Given the description of an element on the screen output the (x, y) to click on. 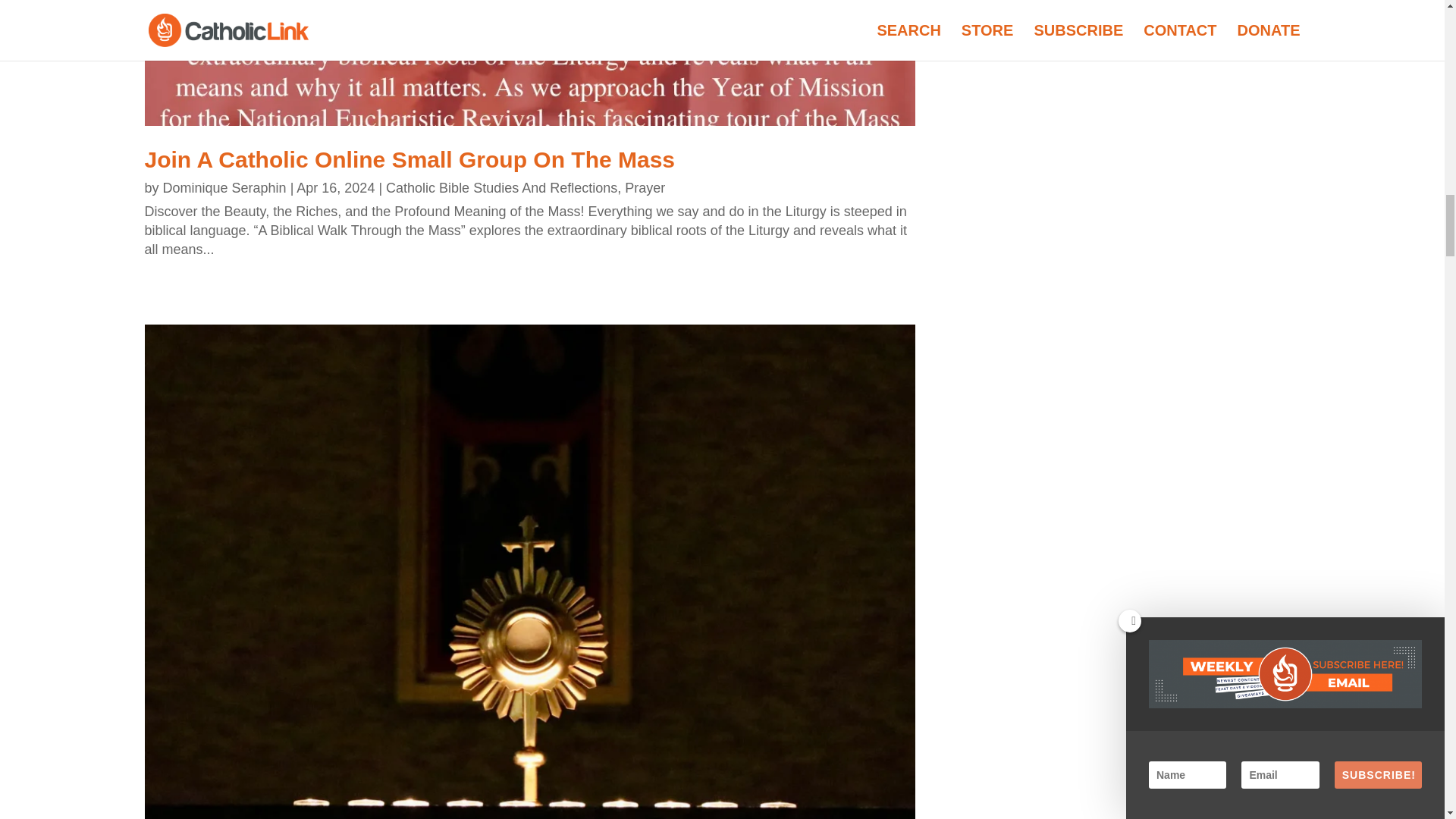
Join A Catholic Online Small Group On The Mass (409, 159)
Prayer (644, 187)
Posts by Dominique Seraphin (224, 187)
Catholic Bible Studies And Reflections (501, 187)
Dominique Seraphin (224, 187)
